Given the description of an element on the screen output the (x, y) to click on. 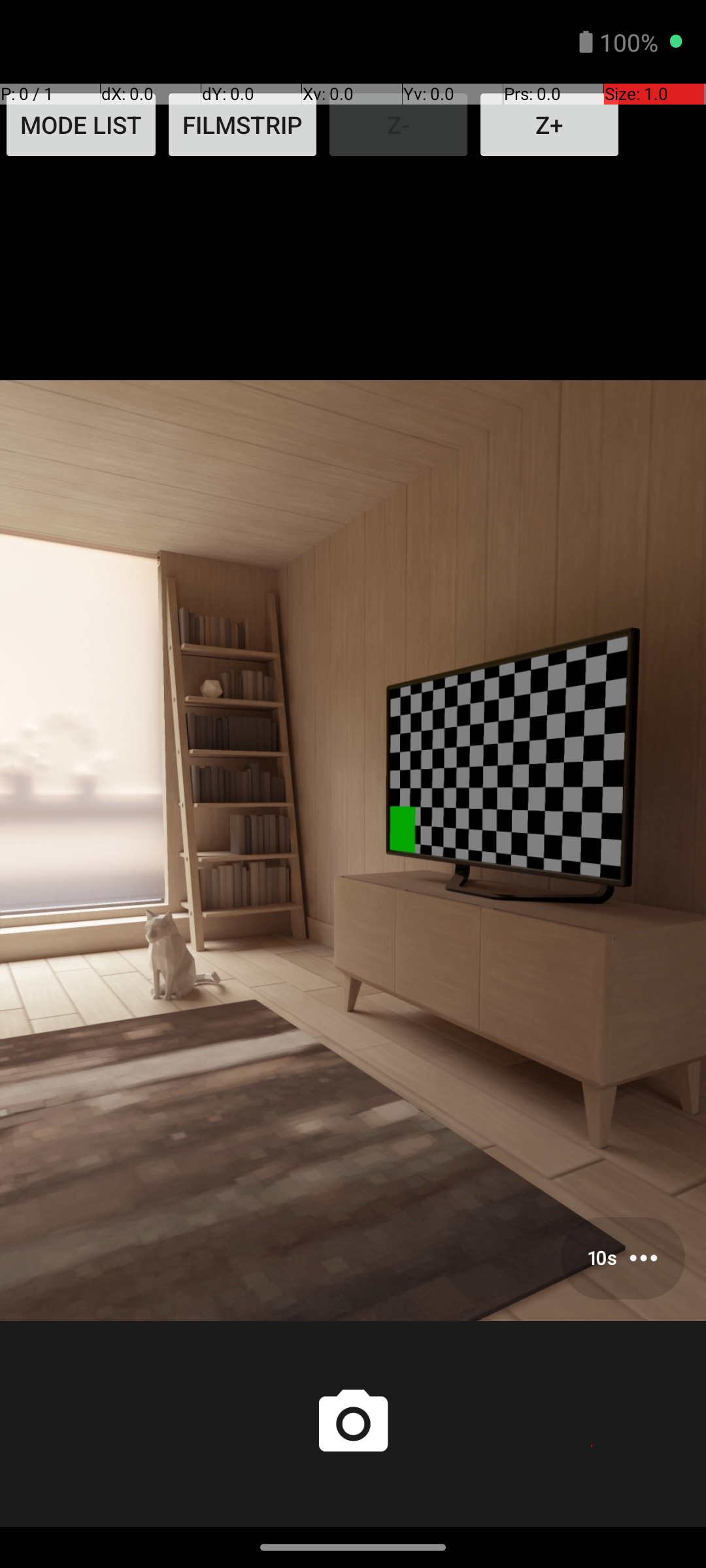
Applications are using your camera. Element type: android.widget.FrameLayout (633, 41)
